Given the description of an element on the screen output the (x, y) to click on. 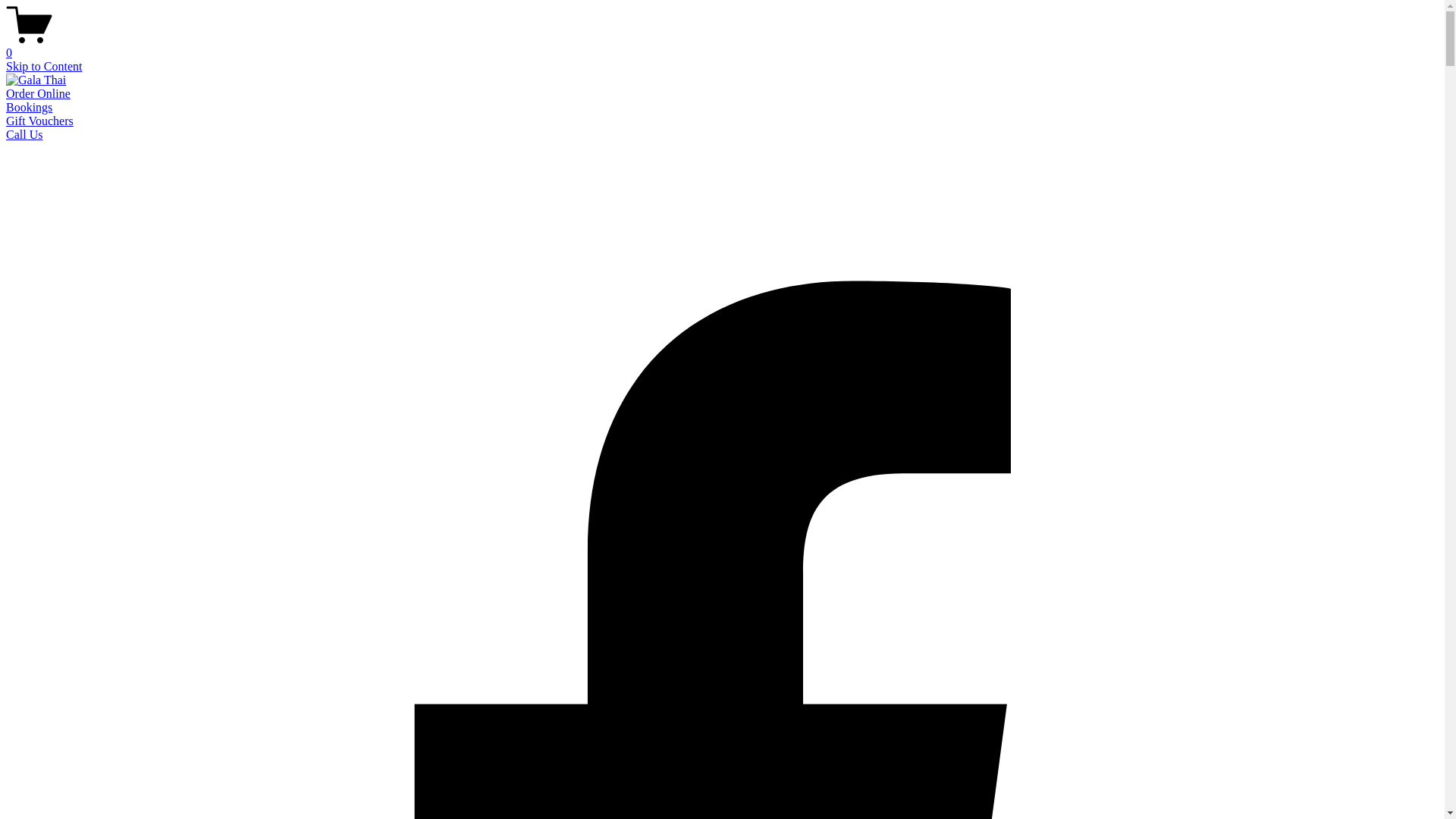
0 Element type: text (722, 45)
Order Online Element type: text (38, 93)
Bookings Element type: text (29, 106)
Call Us Element type: text (24, 134)
Skip to Content Element type: text (43, 65)
Gift Vouchers Element type: text (39, 120)
